Given the description of an element on the screen output the (x, y) to click on. 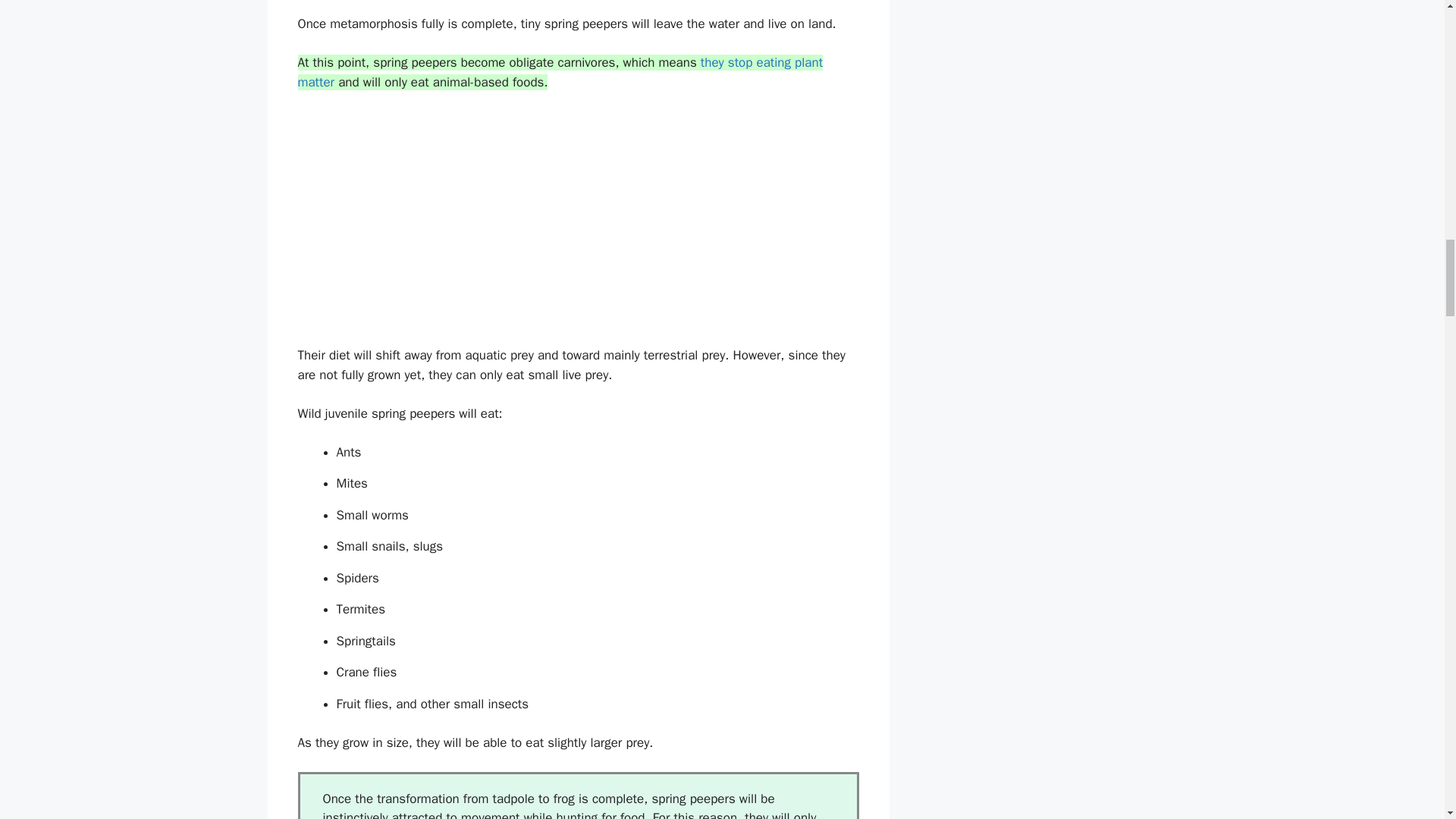
they stop eating plant matter (559, 72)
